Given the description of an element on the screen output the (x, y) to click on. 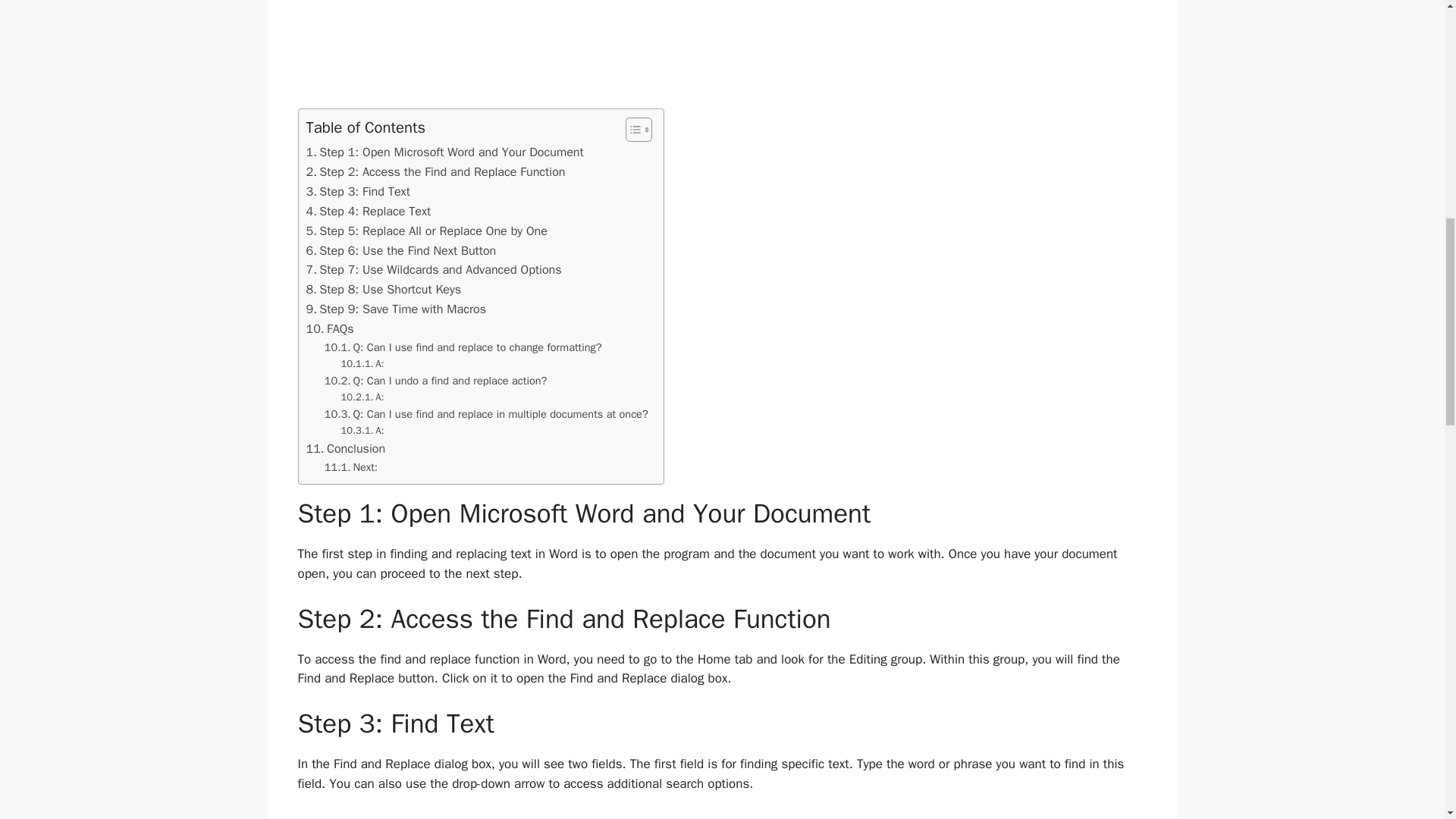
Step 2: Access the Find and Replace Function (435, 171)
Step 7: Use Wildcards and Advanced Options (433, 270)
Step 8: Use Shortcut Keys (383, 289)
Step 6: Use the Find Next Button (400, 250)
Step 6: Use the Find Next Button (400, 250)
Step 4: Replace Text (367, 211)
Step 5: Replace All or Replace One by One (426, 230)
Step 1: Open Microsoft Word and Your Document (444, 152)
Step 2: Access the Find and Replace Function (435, 171)
Step 5: Replace All or Replace One by One (426, 230)
